Given the description of an element on the screen output the (x, y) to click on. 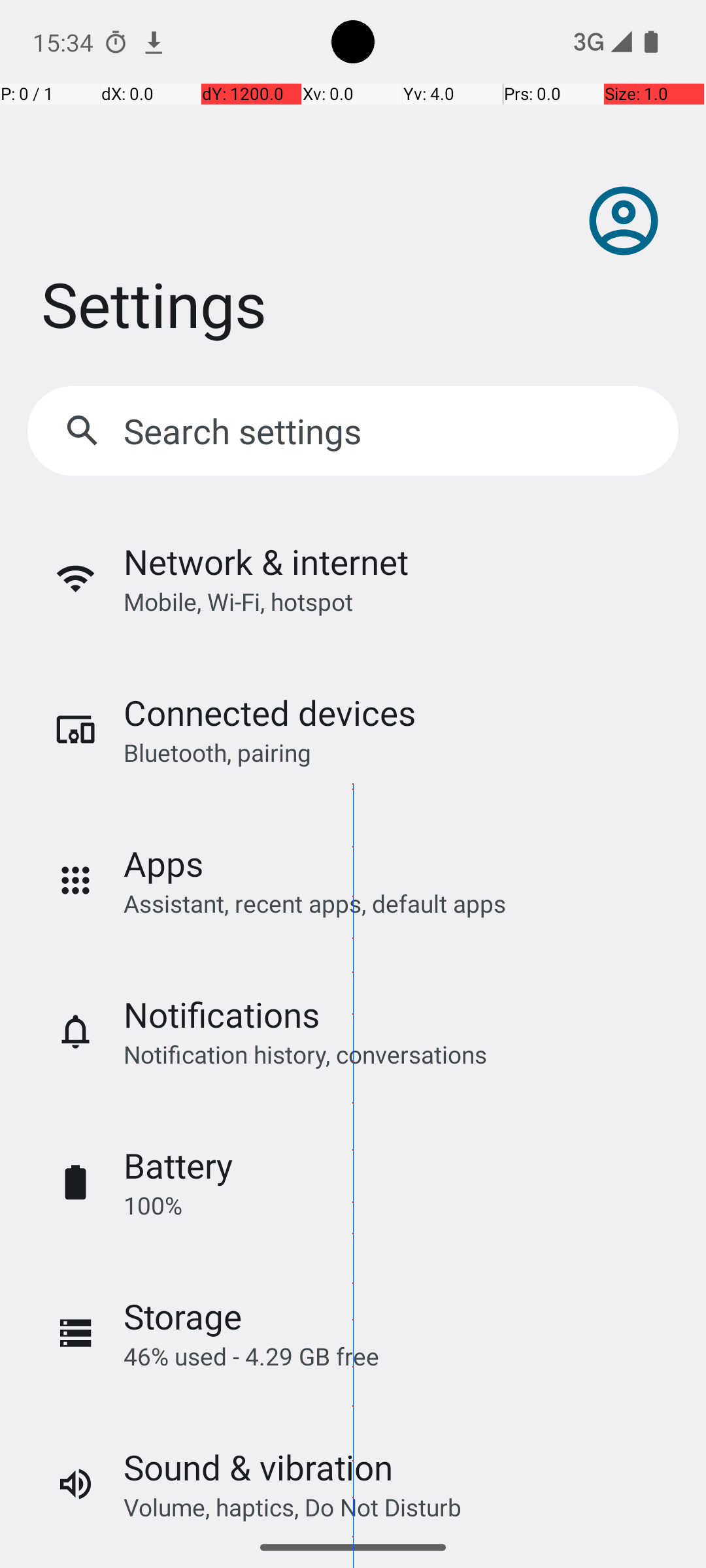
46% used - 4.29 GB free Element type: android.widget.TextView (251, 1355)
